Given the description of an element on the screen output the (x, y) to click on. 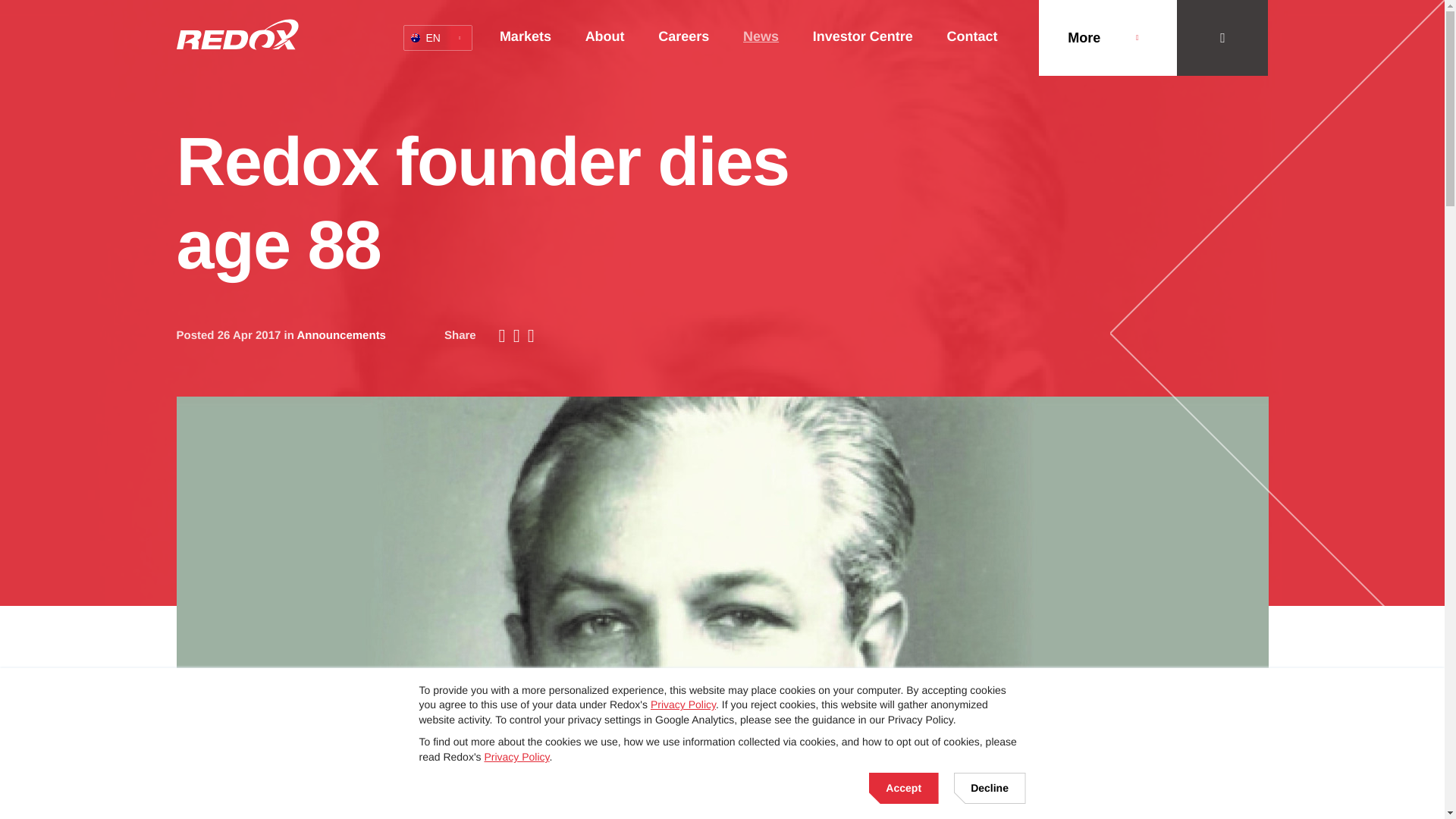
Toggle Navigation (1107, 38)
Select Language (437, 37)
Redox (237, 33)
Redox Homepage (237, 33)
Toggle Search (1222, 38)
Investor Centre (437, 37)
